Given the description of an element on the screen output the (x, y) to click on. 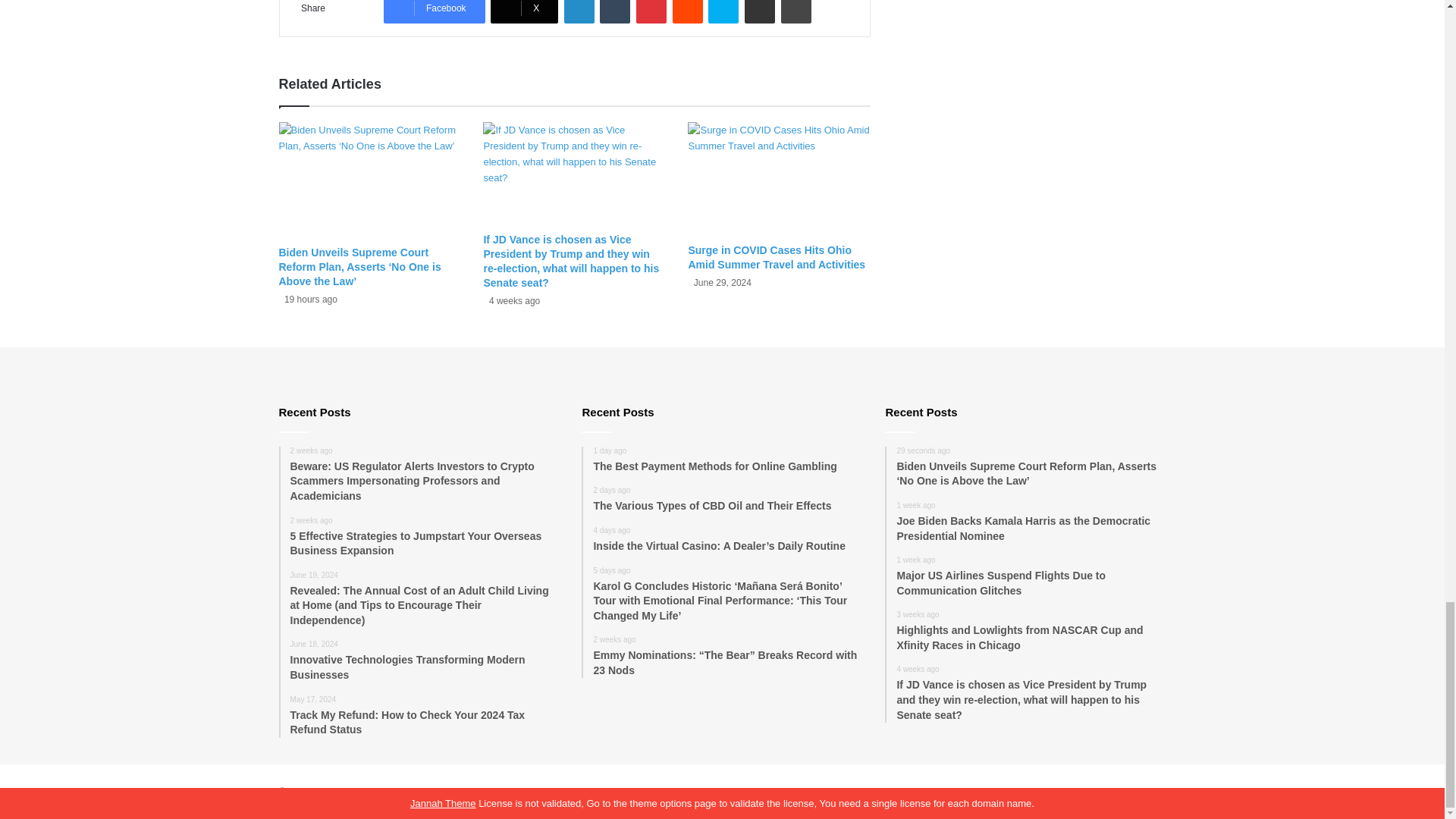
Reddit (687, 11)
LinkedIn (579, 11)
Pinterest (651, 11)
X (523, 11)
Skype (722, 11)
Tumblr (614, 11)
Facebook (434, 11)
